Given the description of an element on the screen output the (x, y) to click on. 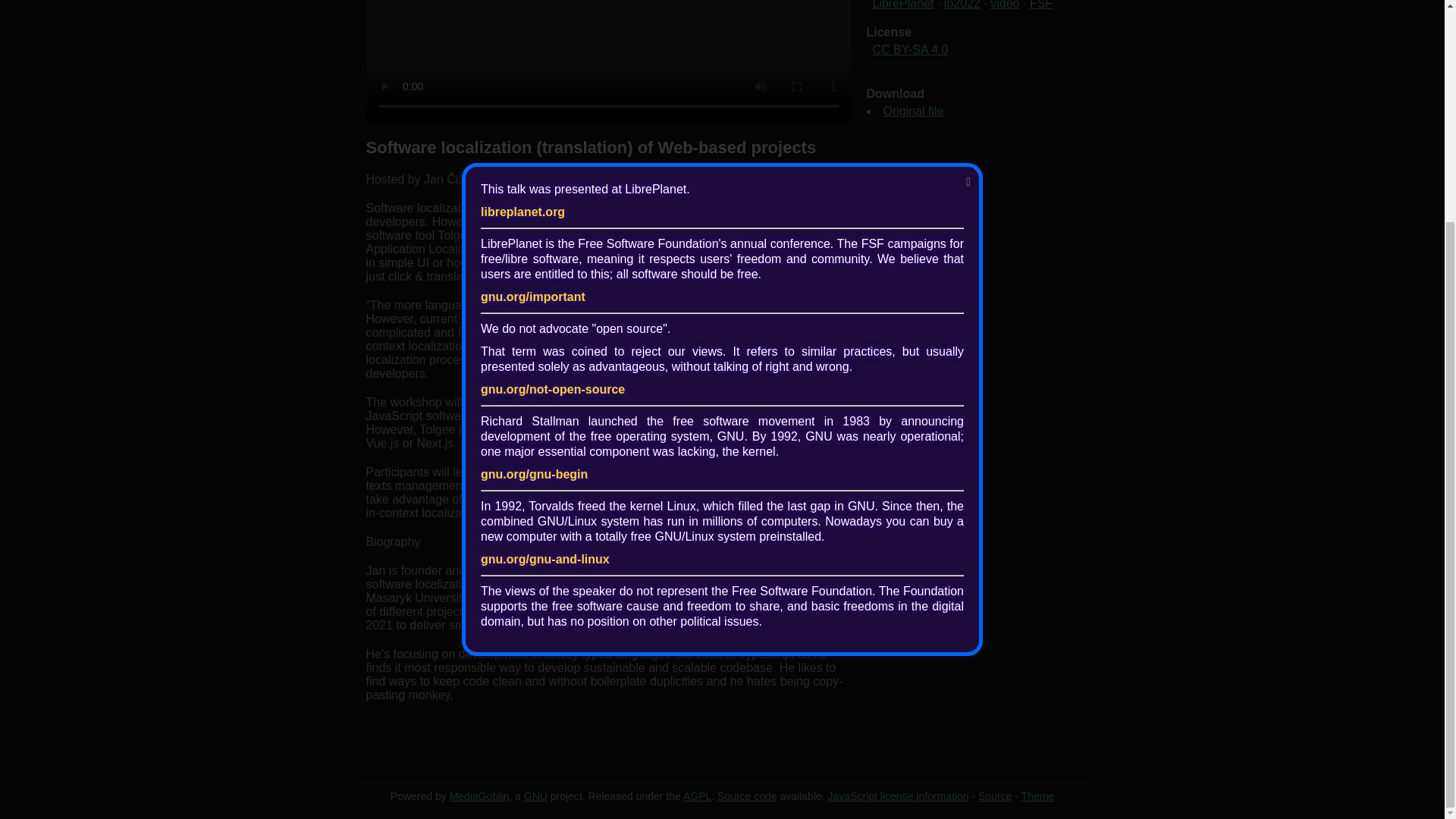
GNU (535, 796)
Version 0.10.0 (479, 796)
JavaScript license information (898, 796)
CC BY-SA 4.0 (909, 49)
LibrePlanet (902, 4)
FSF (1040, 4)
Source code (747, 796)
Original file (912, 110)
AGPL (696, 796)
Theme (1038, 796)
lp2022 (961, 4)
Source (994, 796)
video (1004, 4)
MediaGoblin (479, 796)
